Given the description of an element on the screen output the (x, y) to click on. 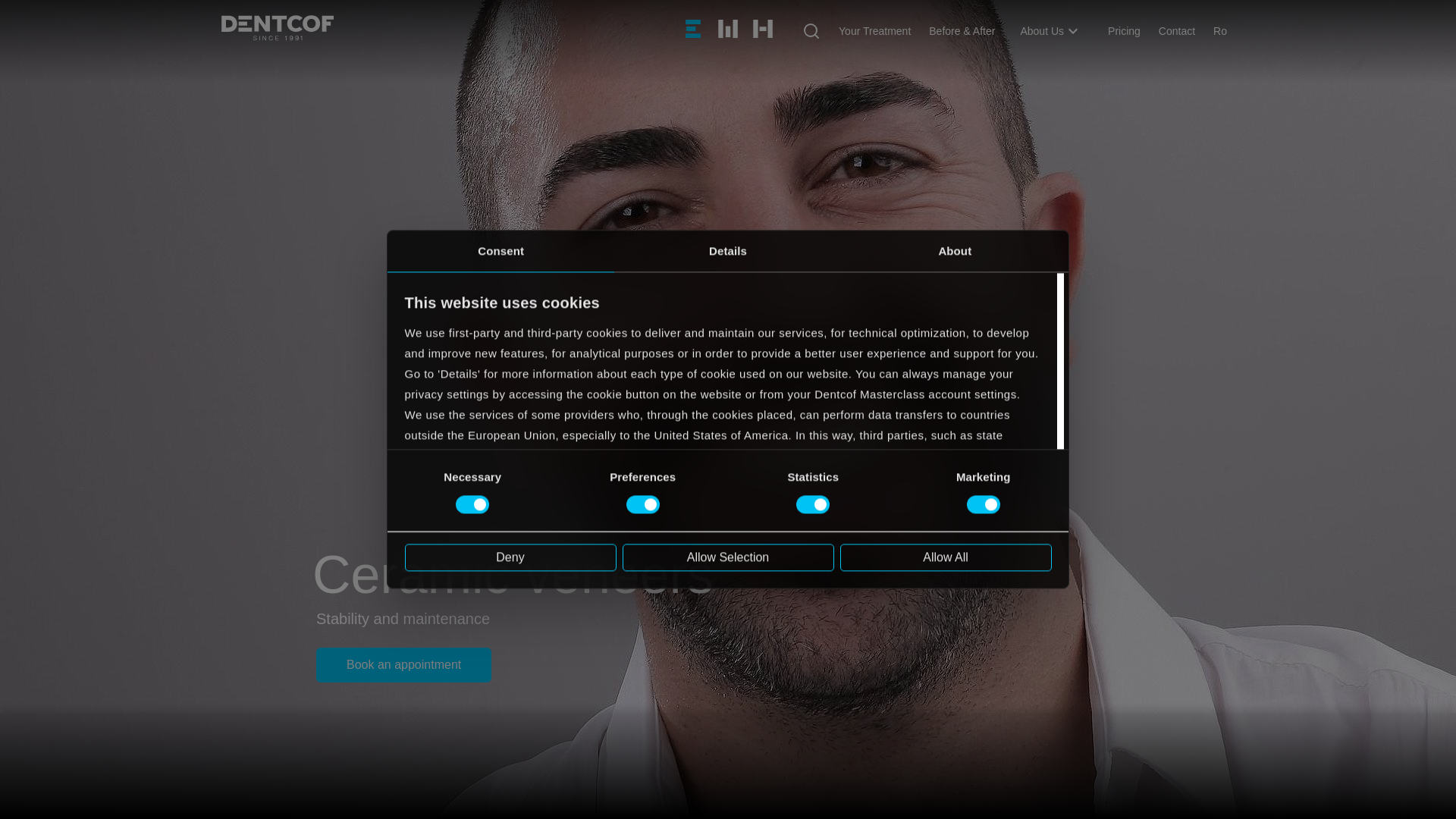
About (954, 250)
Cookie Policy (441, 536)
Allow Selection (726, 556)
Details (727, 250)
Deny (509, 556)
Allow All (945, 556)
Consent (500, 250)
